Given the description of an element on the screen output the (x, y) to click on. 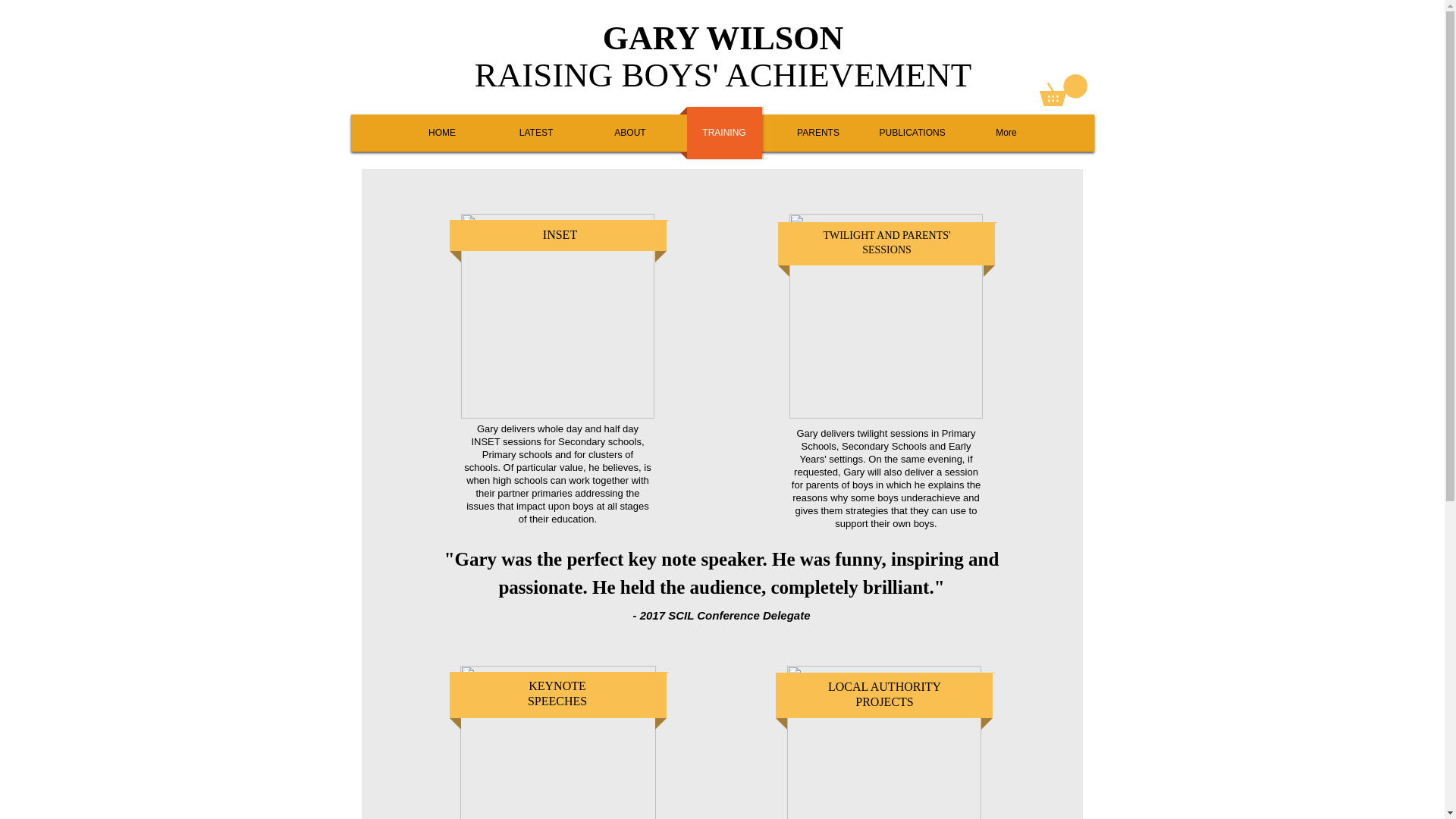
TRAINING (724, 132)
LATEST (536, 132)
PARENTS (818, 132)
Meeting (884, 742)
ABOUT (630, 132)
RAISING BOYS' ACHIEVEMENT (723, 75)
Conference (557, 315)
GARY WILSON (723, 37)
PUBLICATIONS (912, 132)
HOME (442, 132)
